Given the description of an element on the screen output the (x, y) to click on. 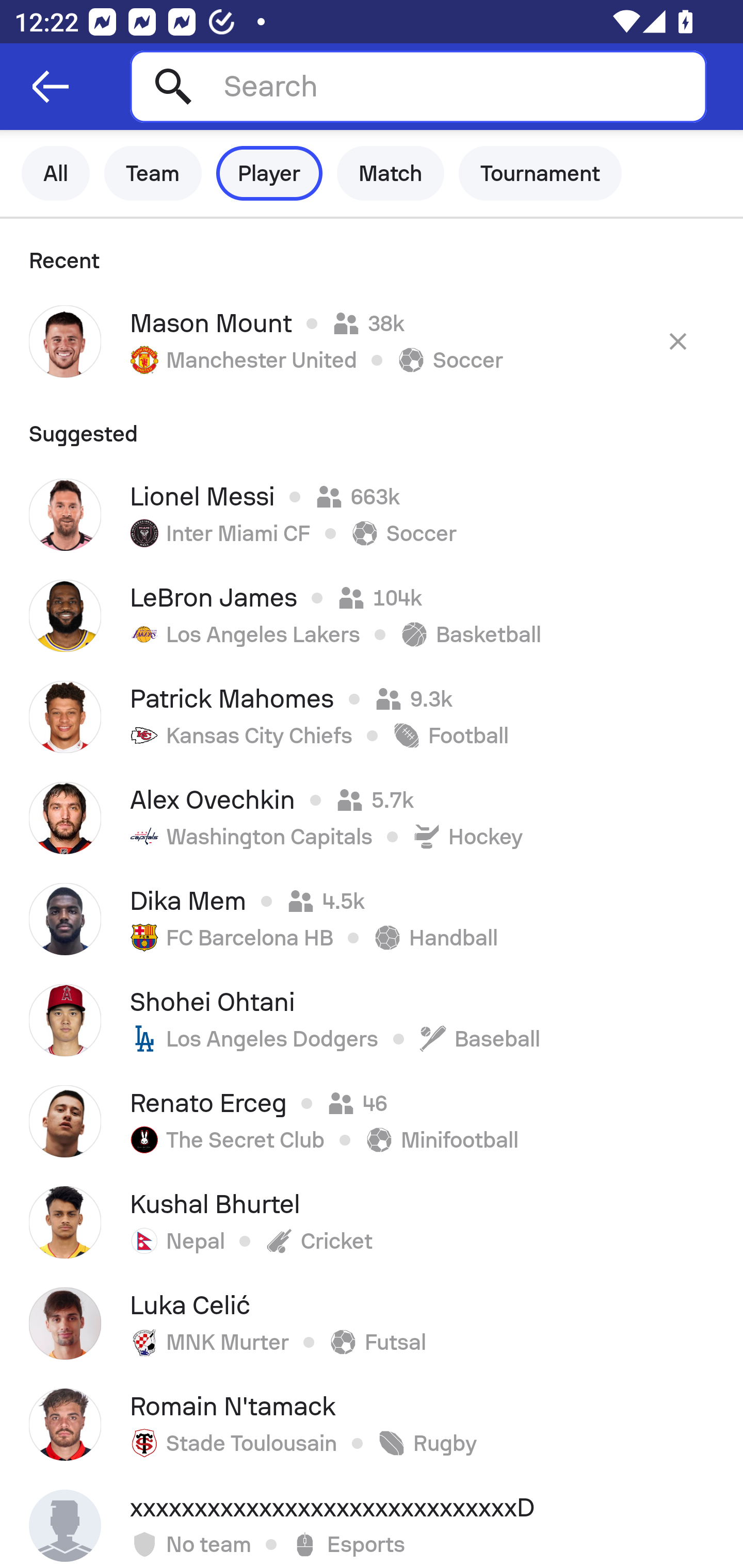
Navigate up (50, 86)
Search (418, 86)
All (55, 172)
Team (152, 172)
Player (268, 172)
Match (390, 172)
Tournament (540, 172)
Recent (371, 254)
Mason Mount 38k Manchester United Soccer (371, 341)
Suggested (371, 428)
Lionel Messi 663k Inter Miami CF Soccer (371, 515)
LeBron James 104k Los Angeles Lakers Basketball (371, 616)
Patrick Mahomes 9.3k Kansas City Chiefs Football (371, 716)
Alex Ovechkin 5.7k Washington Capitals Hockey (371, 817)
Dika Mem 4.5k FC Barcelona HB Handball (371, 918)
Shohei Ohtani Los Angeles Dodgers Baseball (371, 1019)
Renato Erceg 46 The Secret Club Minifootball (371, 1120)
Kushal Bhurtel Nepal Cricket (371, 1222)
Luka Celić MNK Murter Futsal (371, 1323)
Romain N'tamack Stade Toulousain Rugby (371, 1424)
xxxxxxxxxxxxxxxxxxxxxxxxxxxxxxD No team Esports (371, 1521)
